Given the description of an element on the screen output the (x, y) to click on. 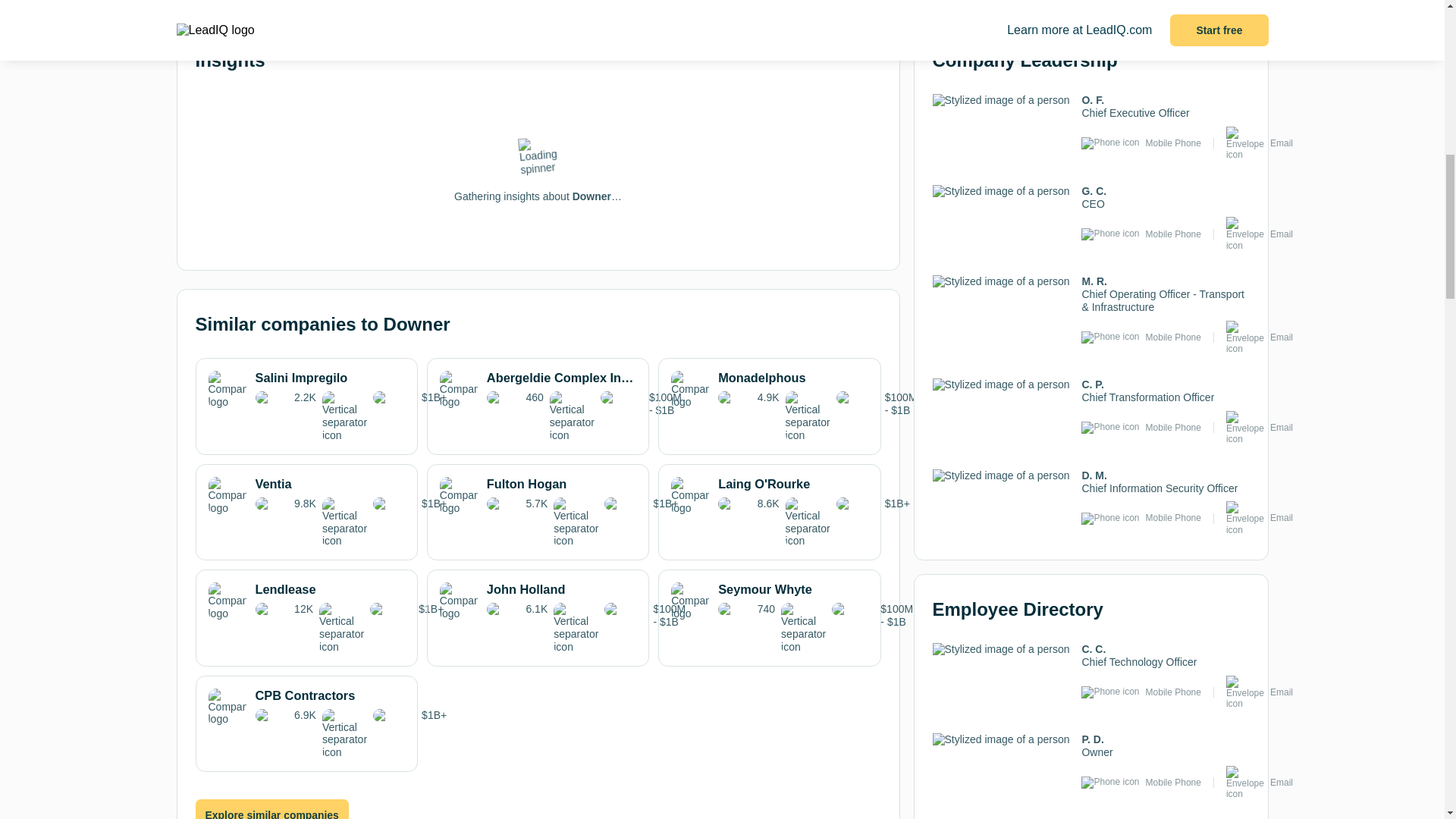
Explore similar companies (272, 809)
Explore similar companies (272, 814)
Email Format (718, 2)
Similar companies (357, 2)
